Given the description of an element on the screen output the (x, y) to click on. 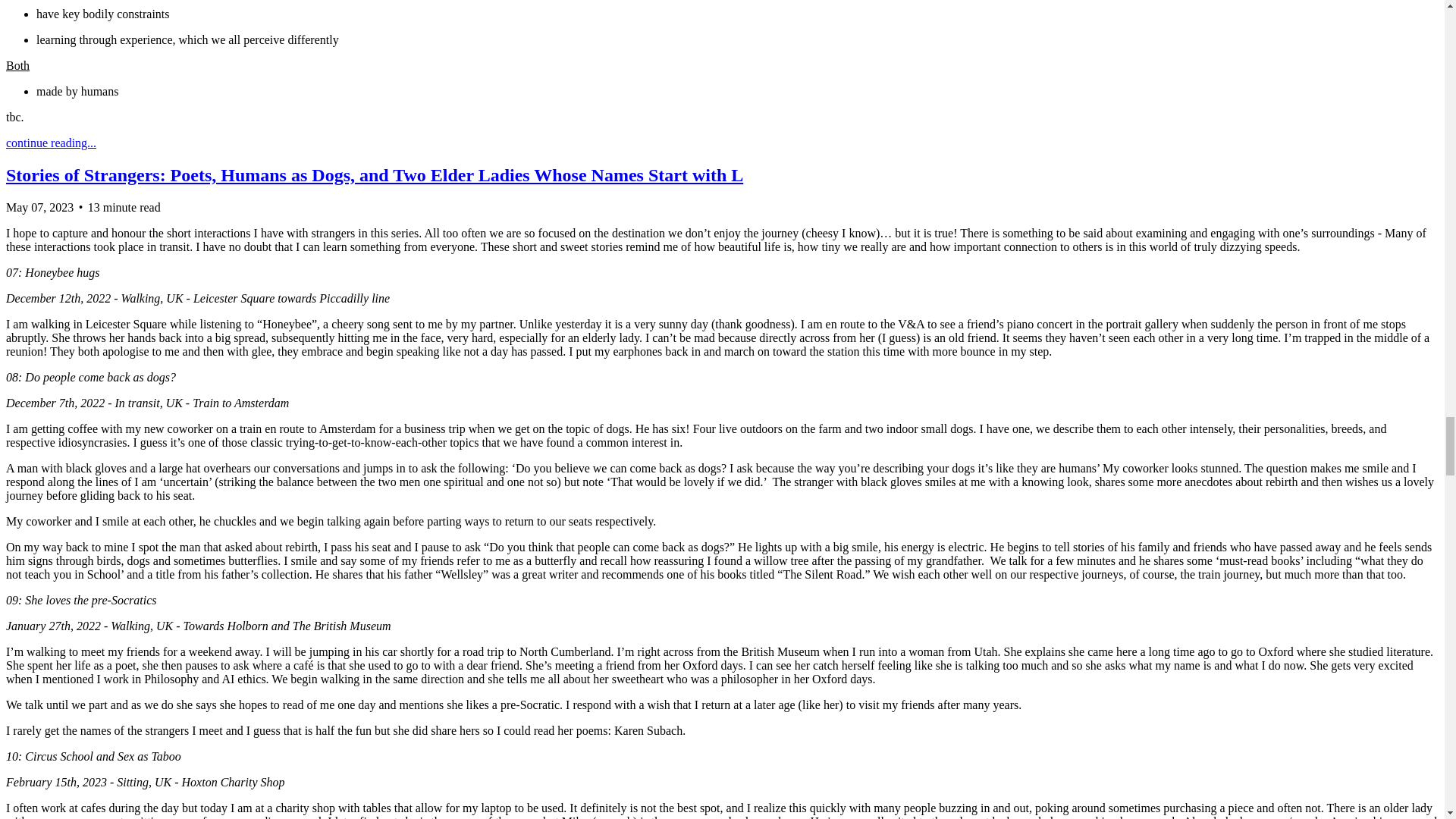
continue reading... (50, 142)
